Given the description of an element on the screen output the (x, y) to click on. 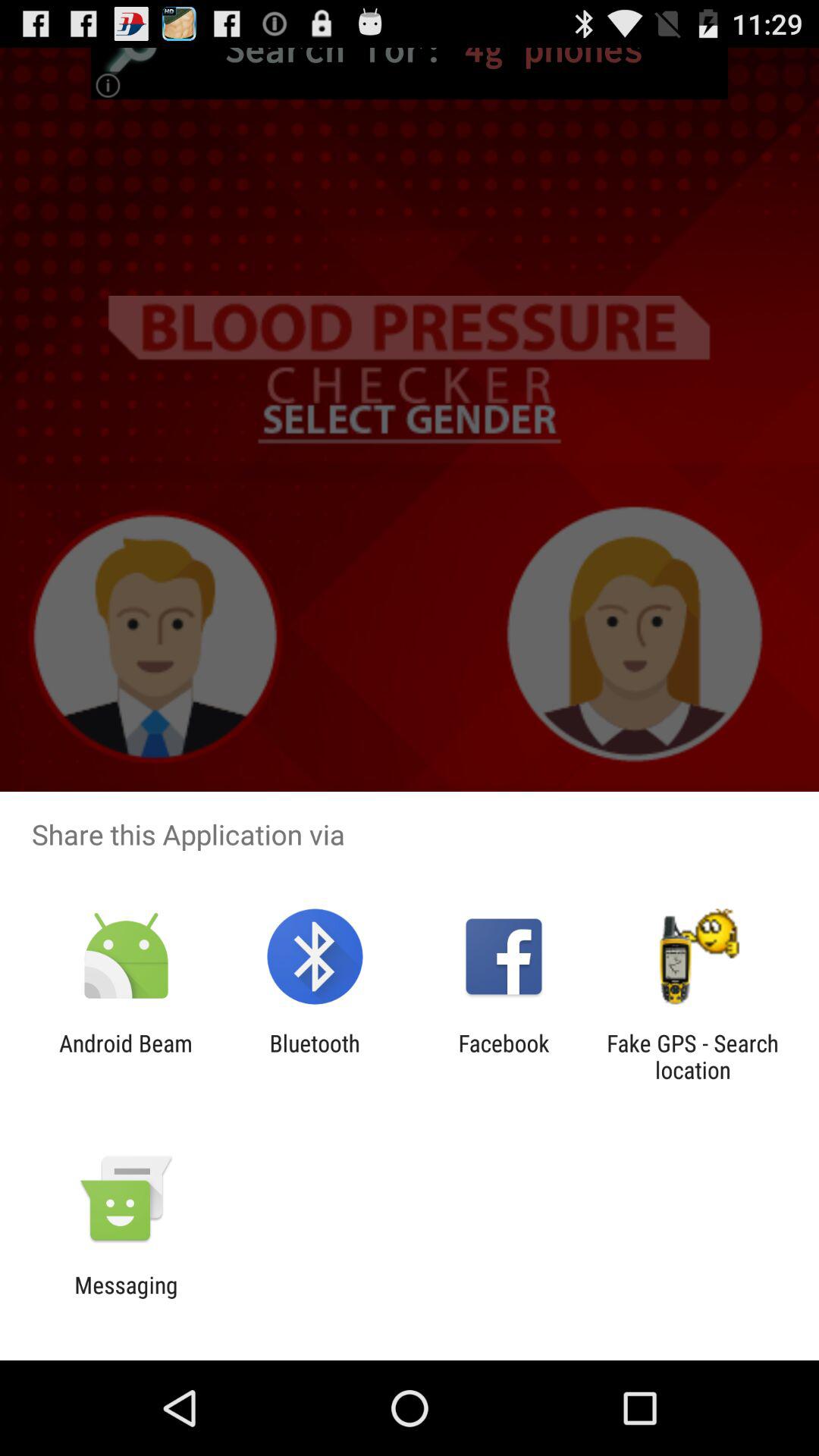
turn off the messaging icon (126, 1298)
